Given the description of an element on the screen output the (x, y) to click on. 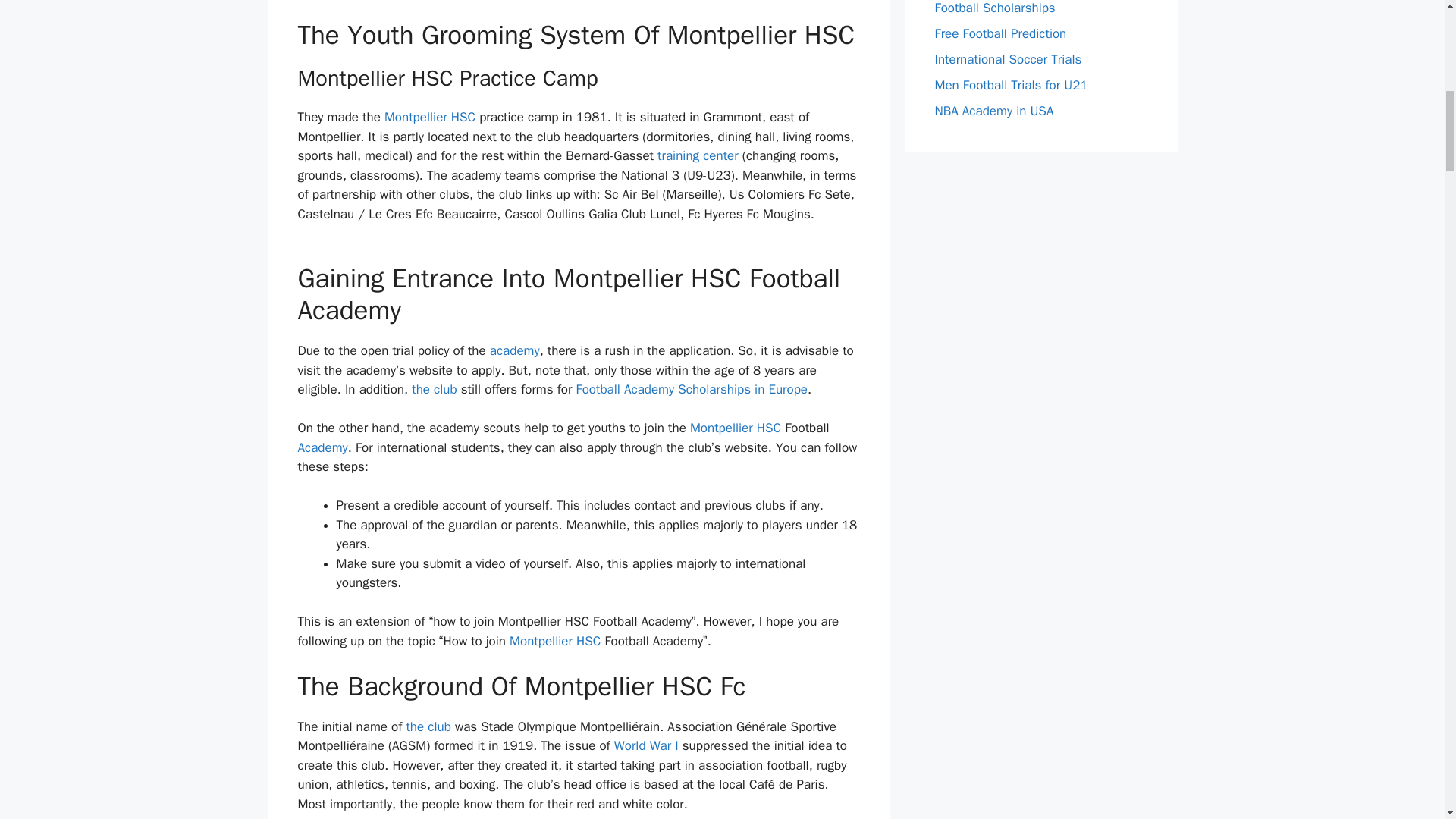
Academy (322, 447)
the club (434, 389)
World War I (648, 745)
training center (698, 155)
the club (427, 726)
Montpellier HSC (554, 641)
Football Academy Scholarships in Europe (692, 389)
academy (514, 350)
Montpellier HSC (735, 427)
Montpellier HSC (430, 116)
